Given the description of an element on the screen output the (x, y) to click on. 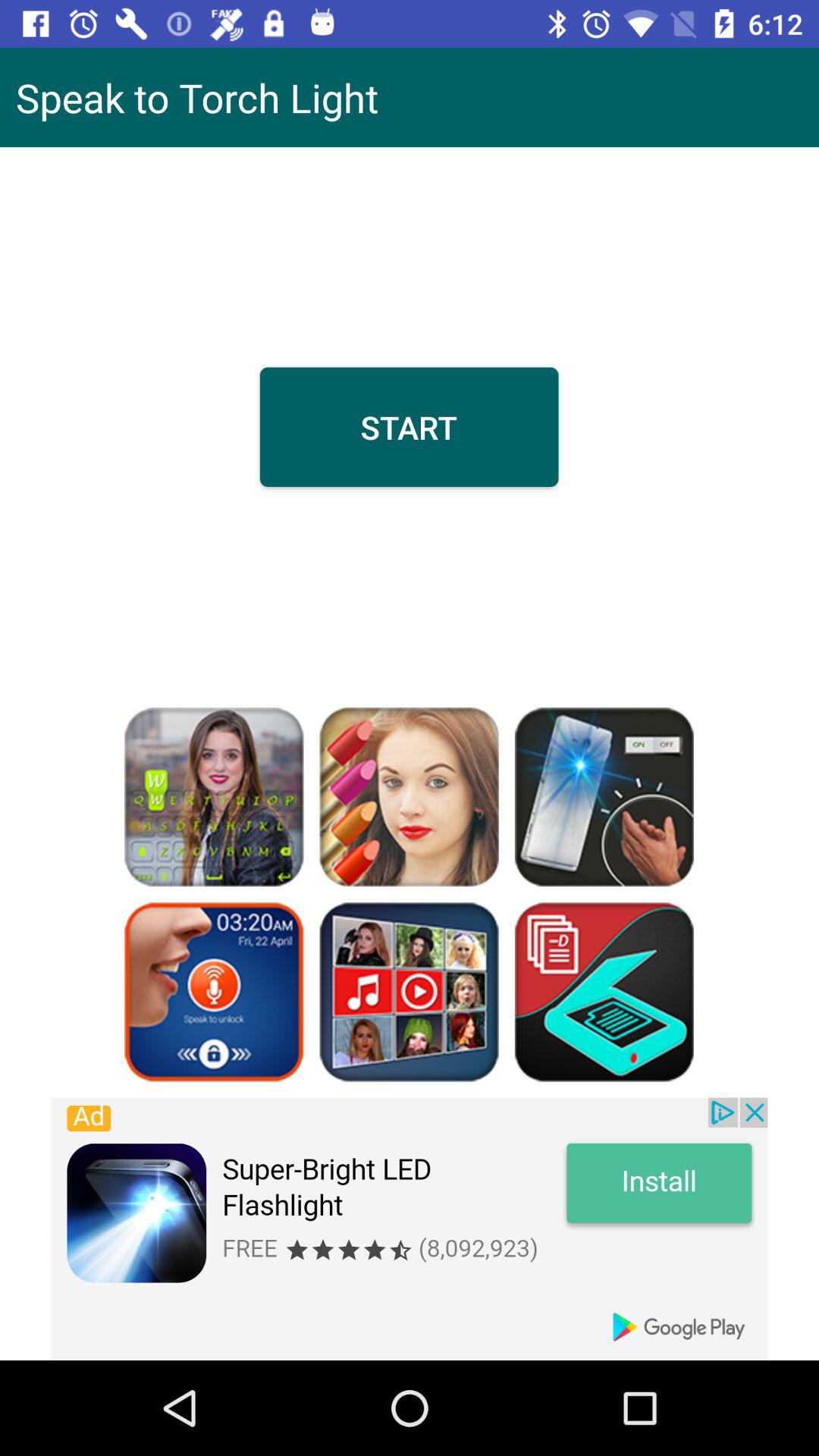
advisement (409, 1228)
